Given the description of an element on the screen output the (x, y) to click on. 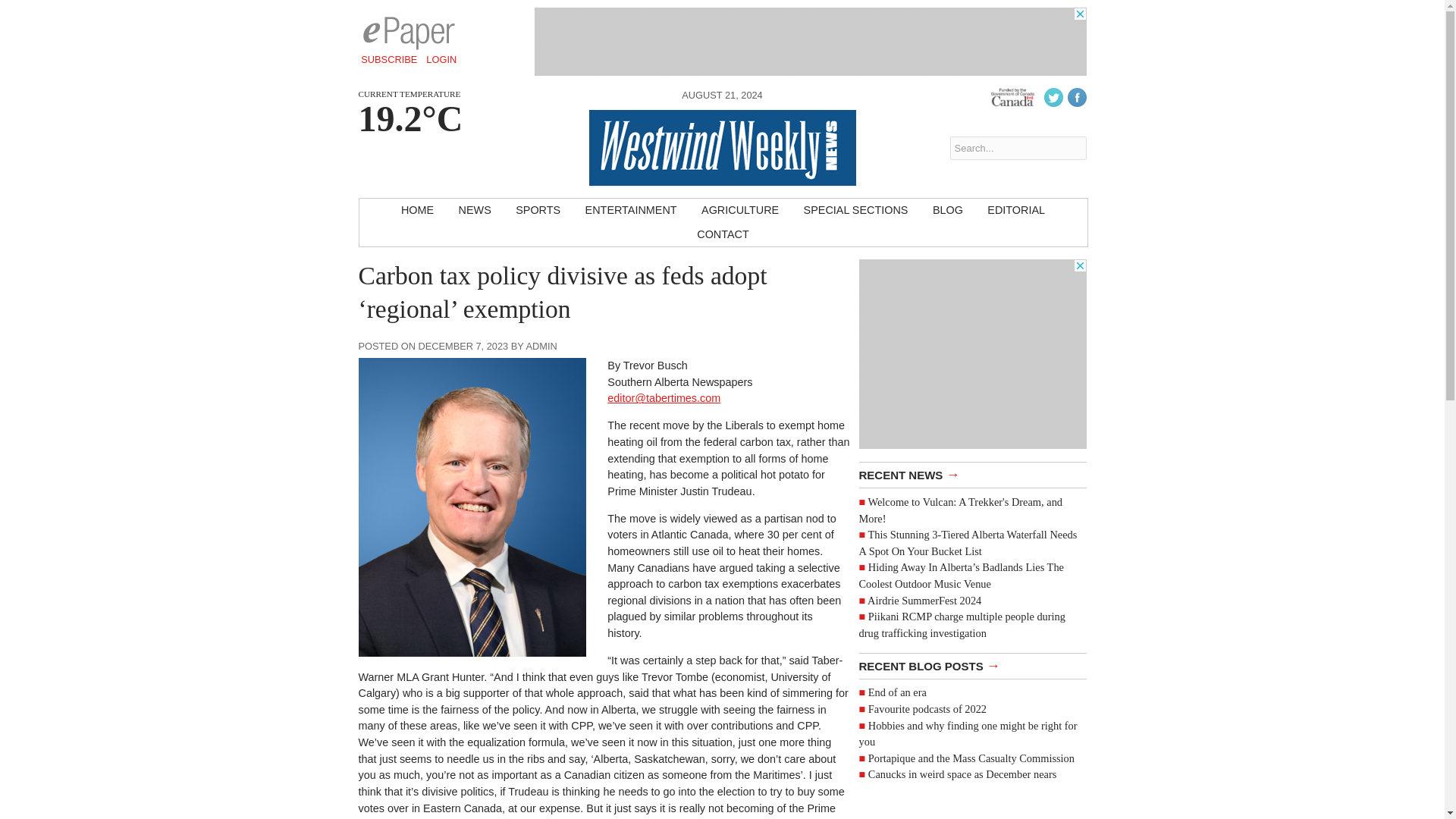
End of an era (896, 692)
SUBSCRIBE (389, 58)
Welcome to Vulcan: A Trekker's Dream, and More! (960, 510)
ENTERTAINMENT (631, 210)
SPECIAL SECTIONS (855, 210)
Favourite podcasts of 2022 (927, 708)
EDITORIAL (1015, 210)
3rd party ad content (810, 41)
